Given the description of an element on the screen output the (x, y) to click on. 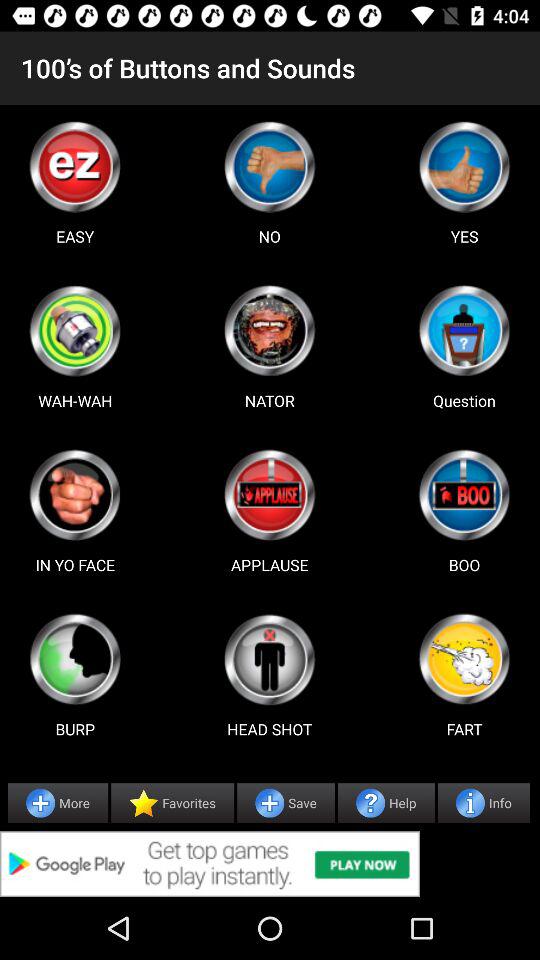
picture (75, 659)
